Given the description of an element on the screen output the (x, y) to click on. 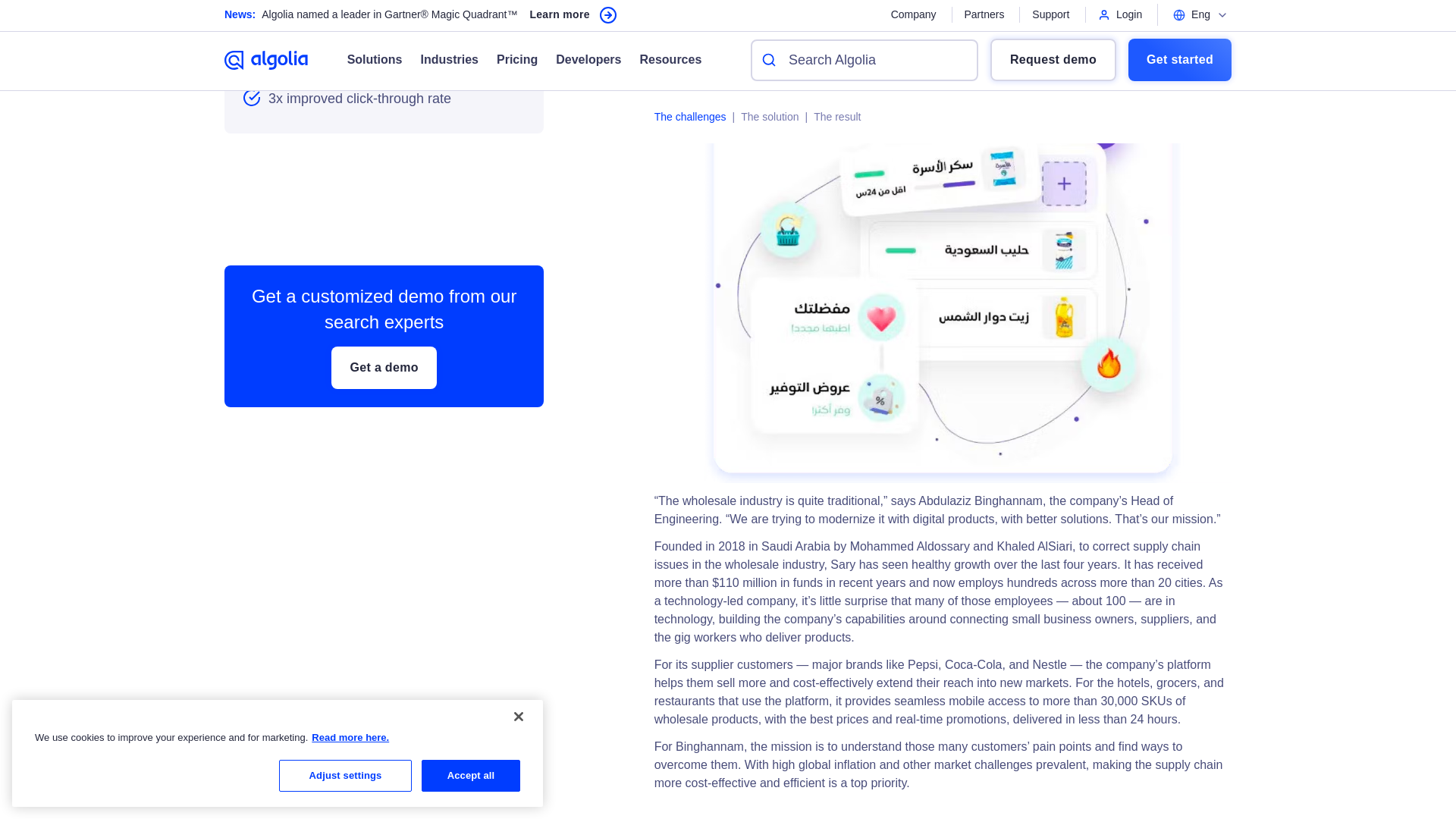
Check Circle (251, 97)
Check Circle (251, 65)
Check Circle (251, 32)
